Given the description of an element on the screen output the (x, y) to click on. 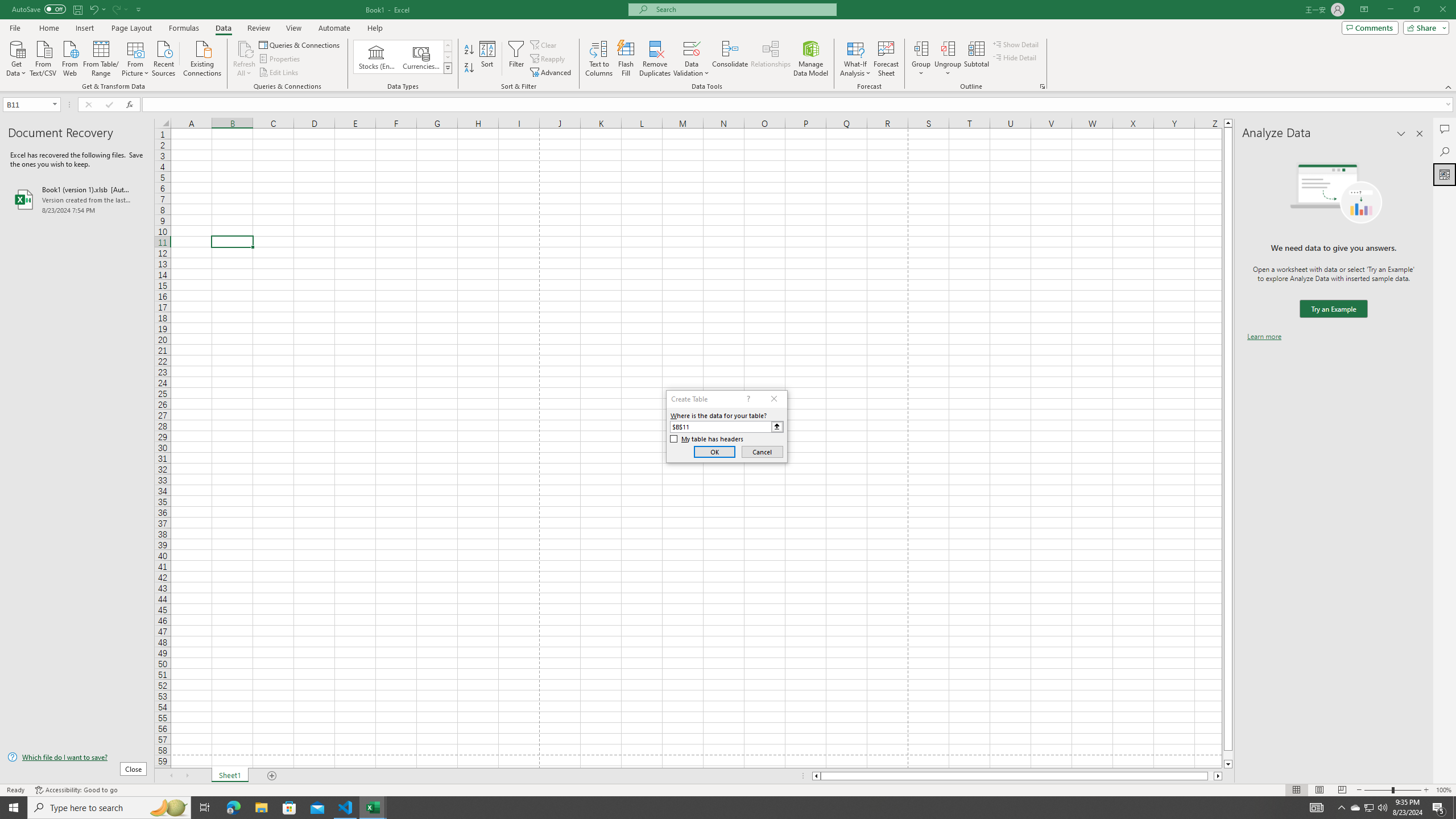
Filter (515, 58)
Learn more (1264, 336)
What-If Analysis (855, 58)
Sort... (487, 58)
Stocks (English) (375, 56)
Subtotal (976, 58)
Consolidate... (729, 58)
